Given the description of an element on the screen output the (x, y) to click on. 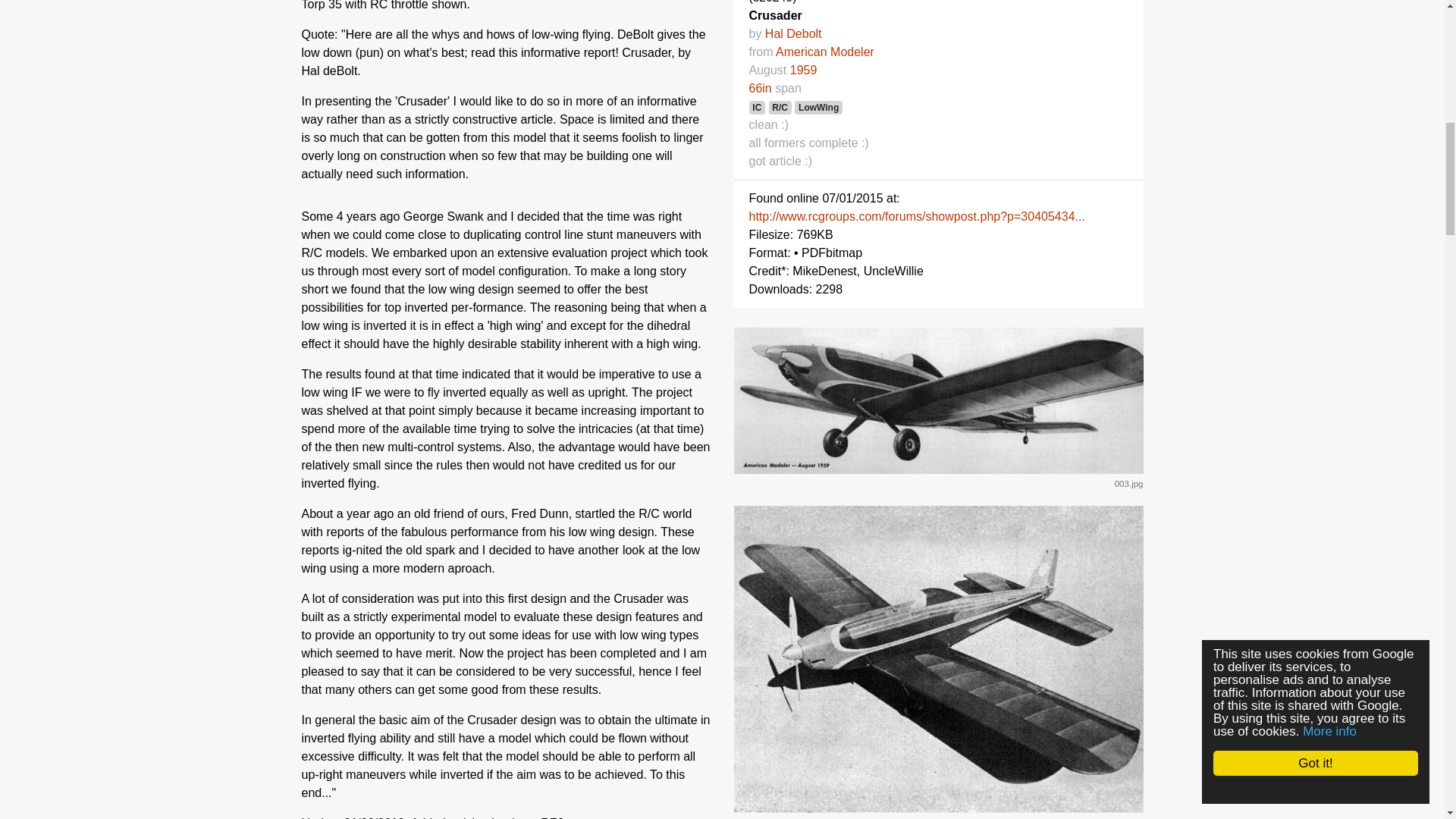
1959 (803, 69)
Hal Debolt (793, 33)
66in (760, 88)
American Modeler (825, 51)
